Given the description of an element on the screen output the (x, y) to click on. 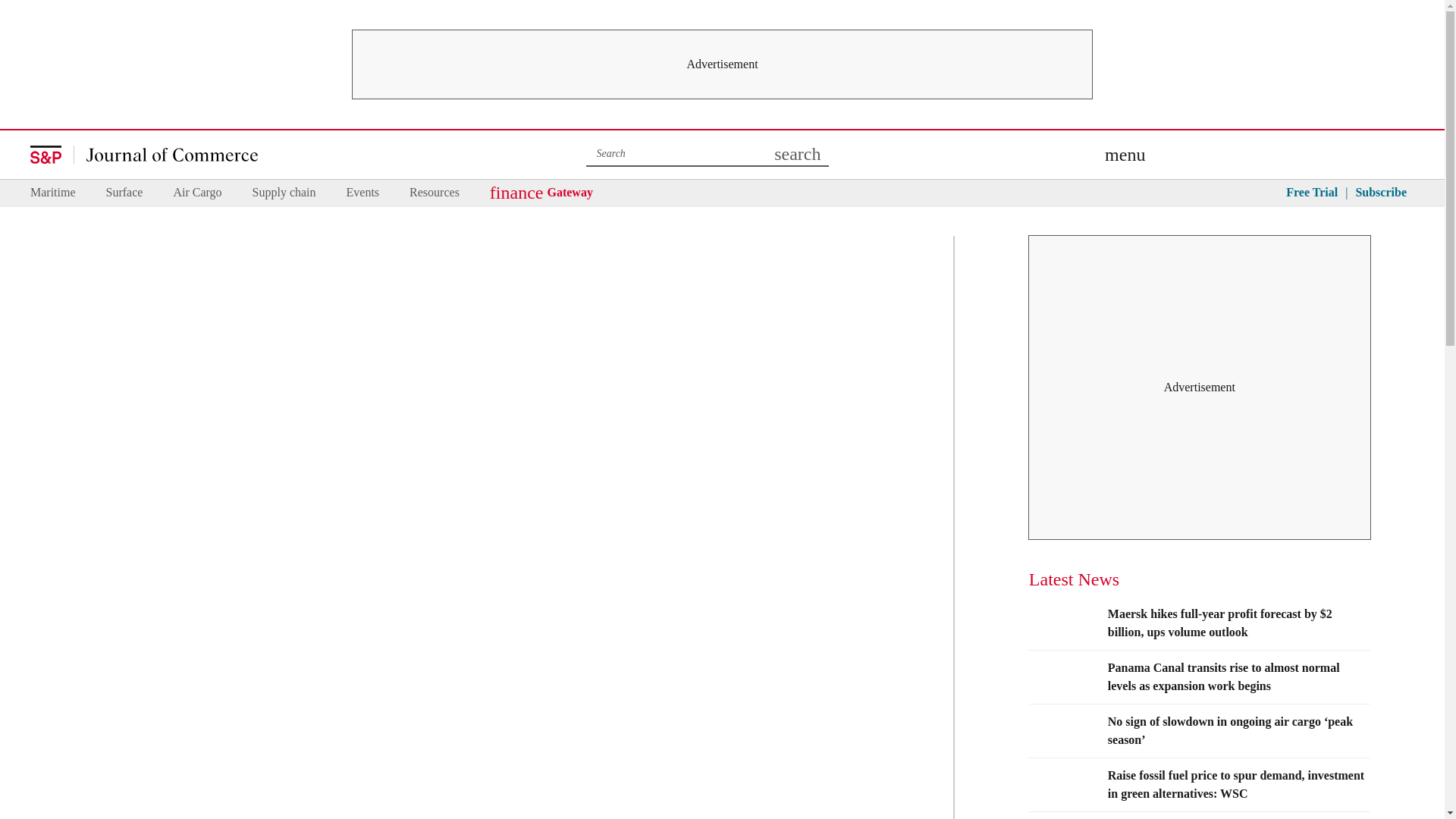
Maritime (52, 192)
Surface (124, 192)
Free Trial (1311, 192)
menu (1124, 154)
Supply chain (283, 192)
search (797, 154)
open menu (1124, 154)
Air Cargo (197, 192)
Events (363, 192)
Subscribe (1380, 192)
Resources (434, 192)
search (797, 154)
